Given the description of an element on the screen output the (x, y) to click on. 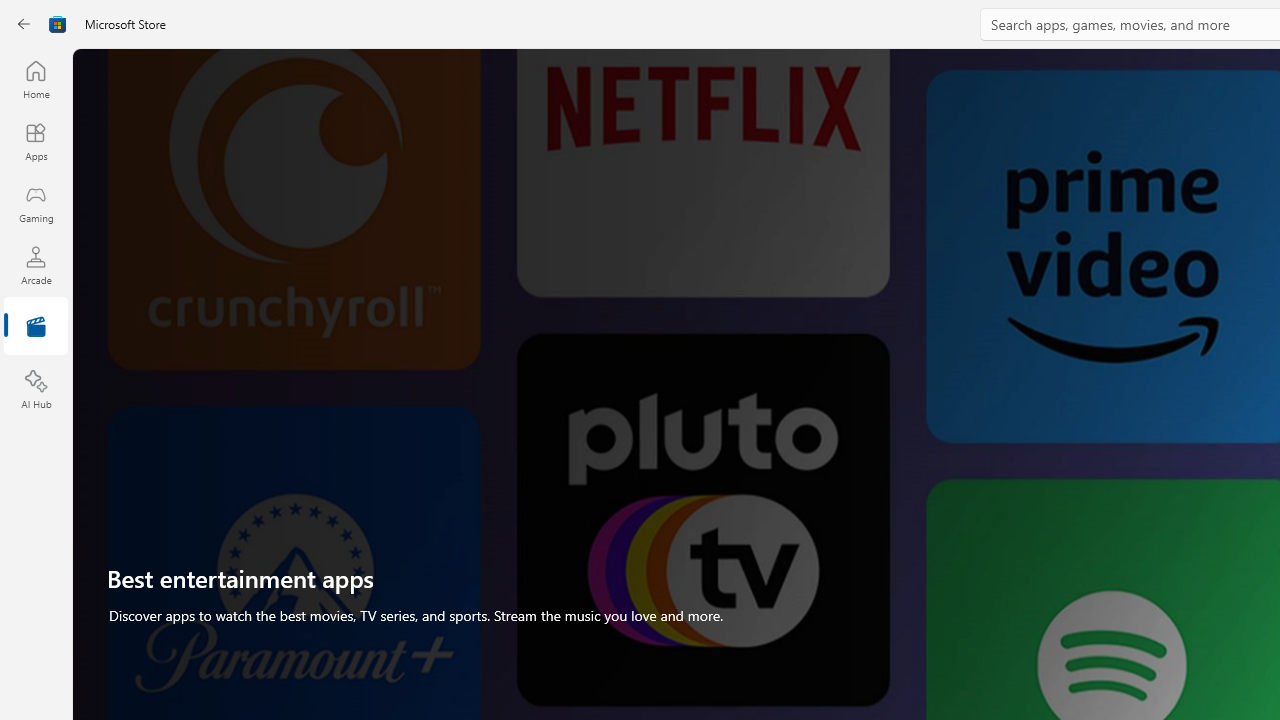
Home (35, 79)
Gaming (35, 203)
Class: Image (58, 24)
Arcade (35, 265)
Entertainment (35, 327)
AI Hub (35, 390)
Back (24, 24)
Apps (35, 141)
